Given the description of an element on the screen output the (x, y) to click on. 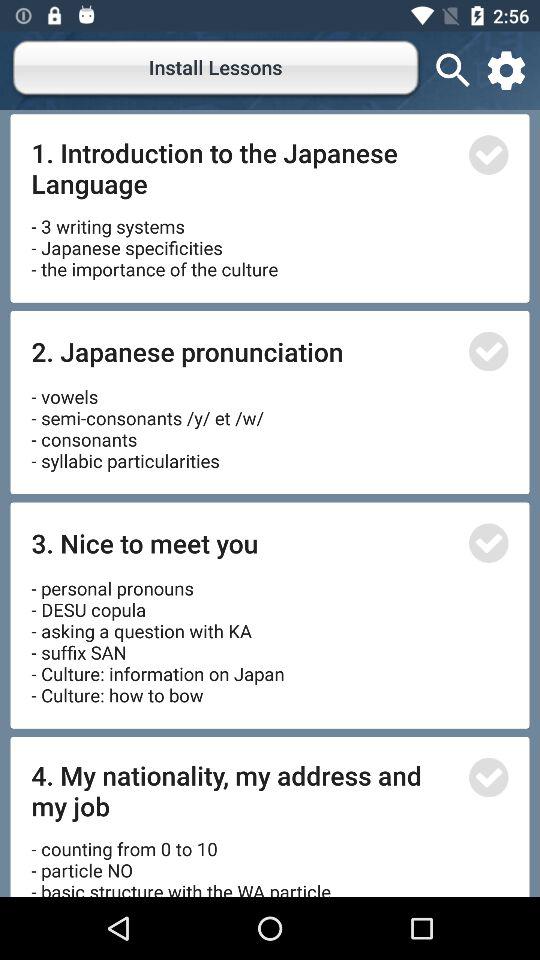
swipe to counting from 0 (183, 859)
